Given the description of an element on the screen output the (x, y) to click on. 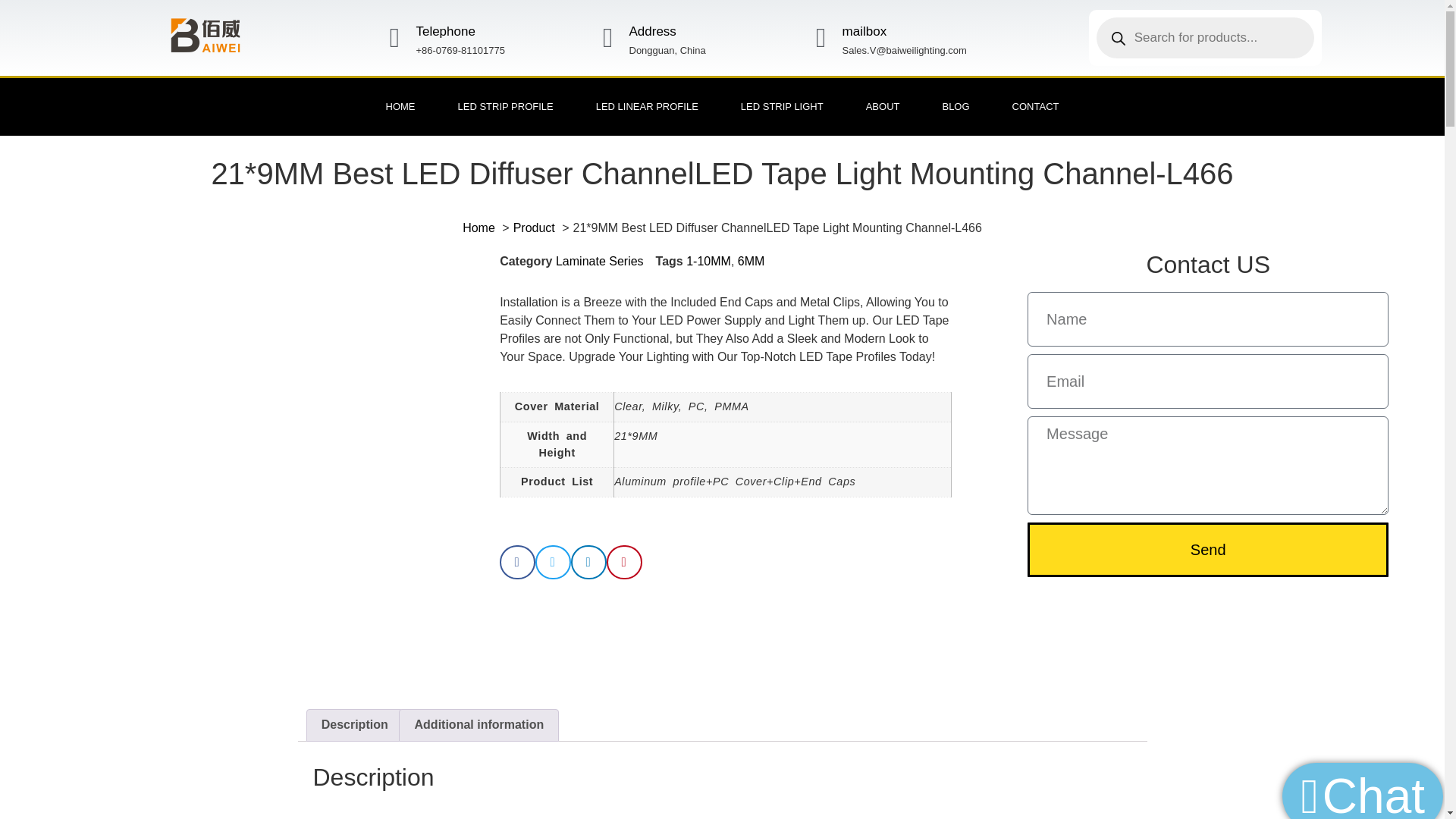
LED STRIP PROFILE (505, 106)
LED STRIP LIGHT (781, 106)
LED LINEAR PROFILE (647, 106)
BLOG (955, 106)
HOME (400, 106)
ABOUT (882, 106)
